Given the description of an element on the screen output the (x, y) to click on. 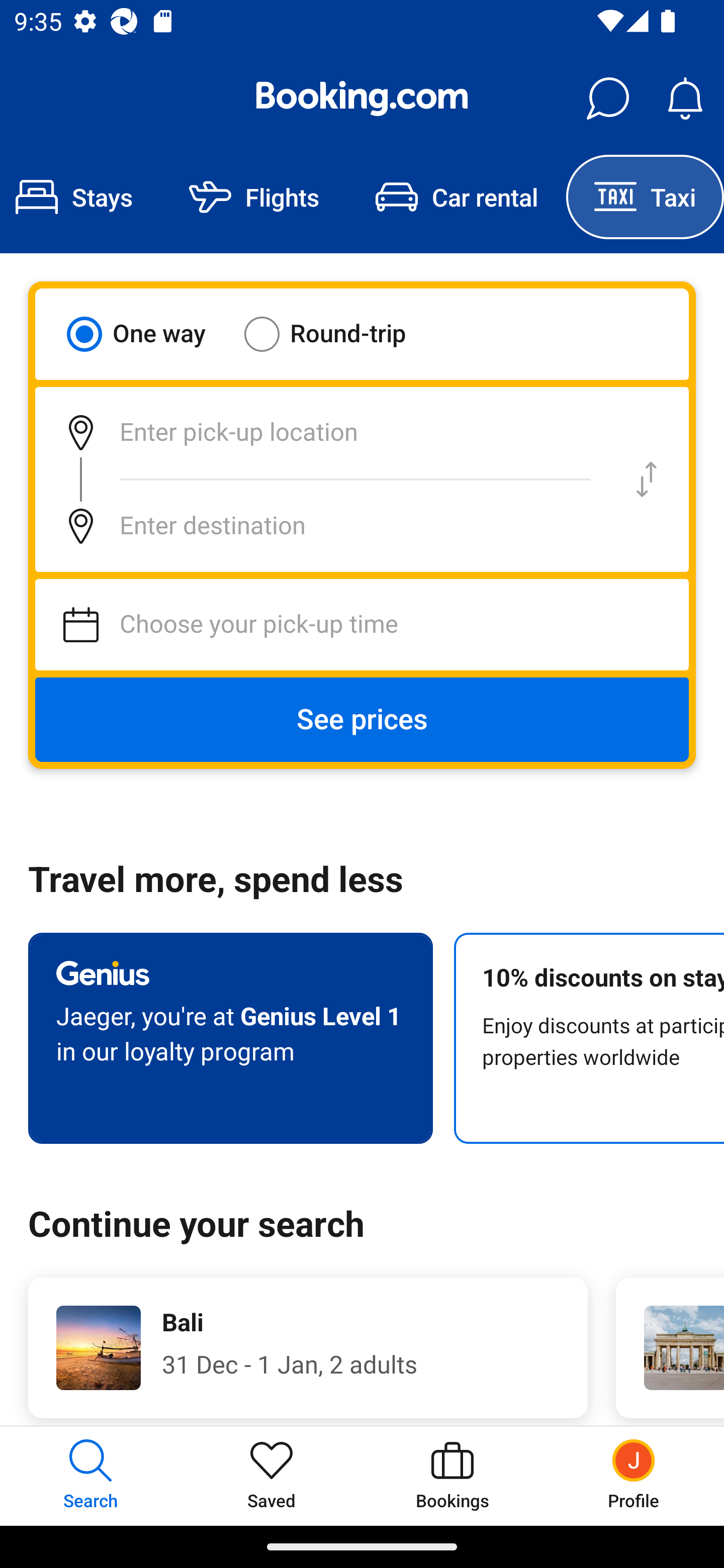
Messages (607, 98)
Notifications (685, 98)
Stays (80, 197)
Flights (253, 197)
Car rental (456, 197)
Taxi (645, 197)
Round-trip (337, 333)
Enter pick-up location (319, 432)
Swap pick-up location and destination (646, 479)
Enter destination (319, 525)
Choose your pick-up time (361, 624)
See prices (361, 719)
Bali 31 Dec - 1 Jan, 2 adults (307, 1347)
Saved (271, 1475)
Bookings (452, 1475)
Profile (633, 1475)
